Given the description of an element on the screen output the (x, y) to click on. 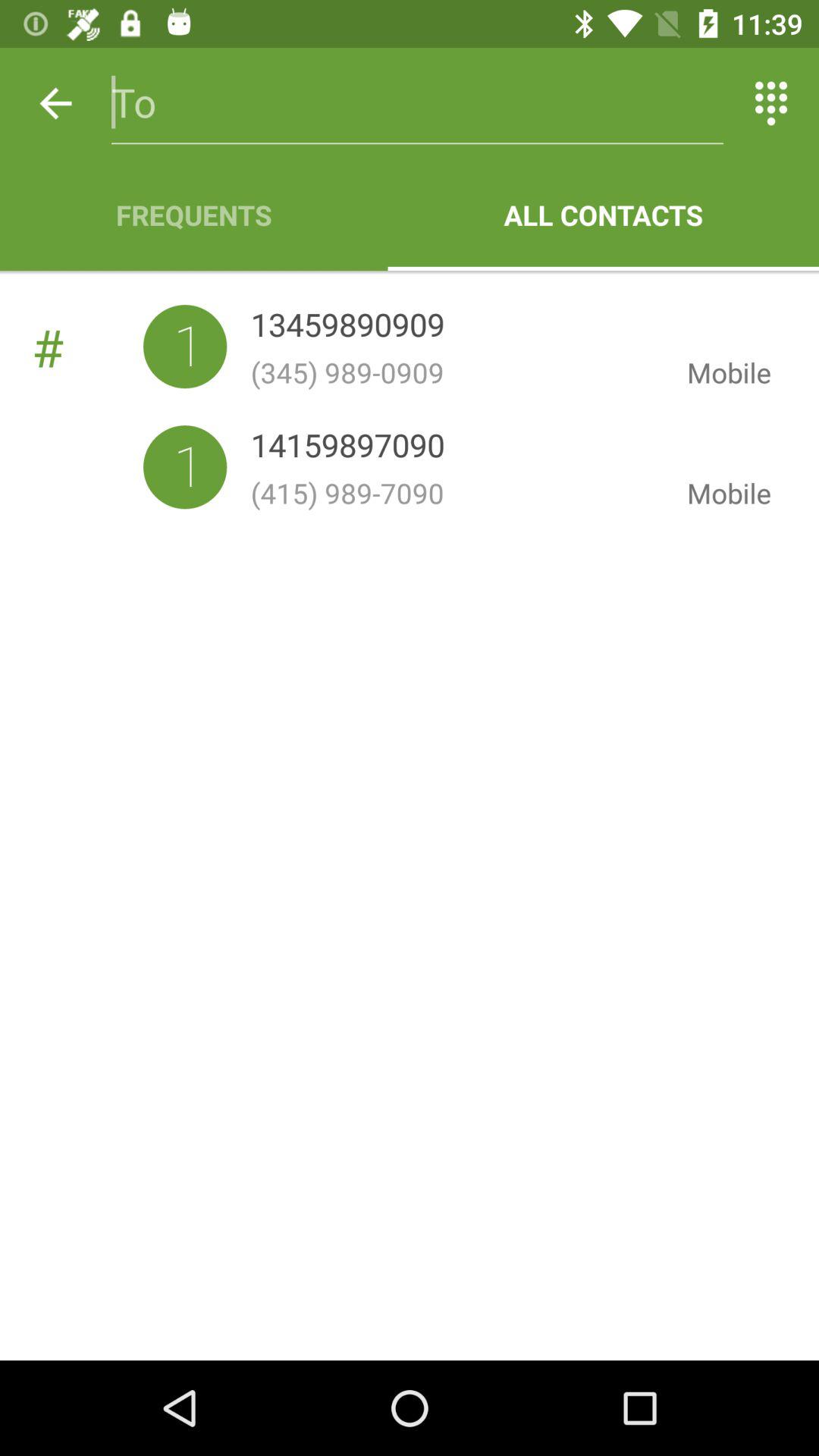
launch the (345) 989-0909 icon (456, 372)
